Given the description of an element on the screen output the (x, y) to click on. 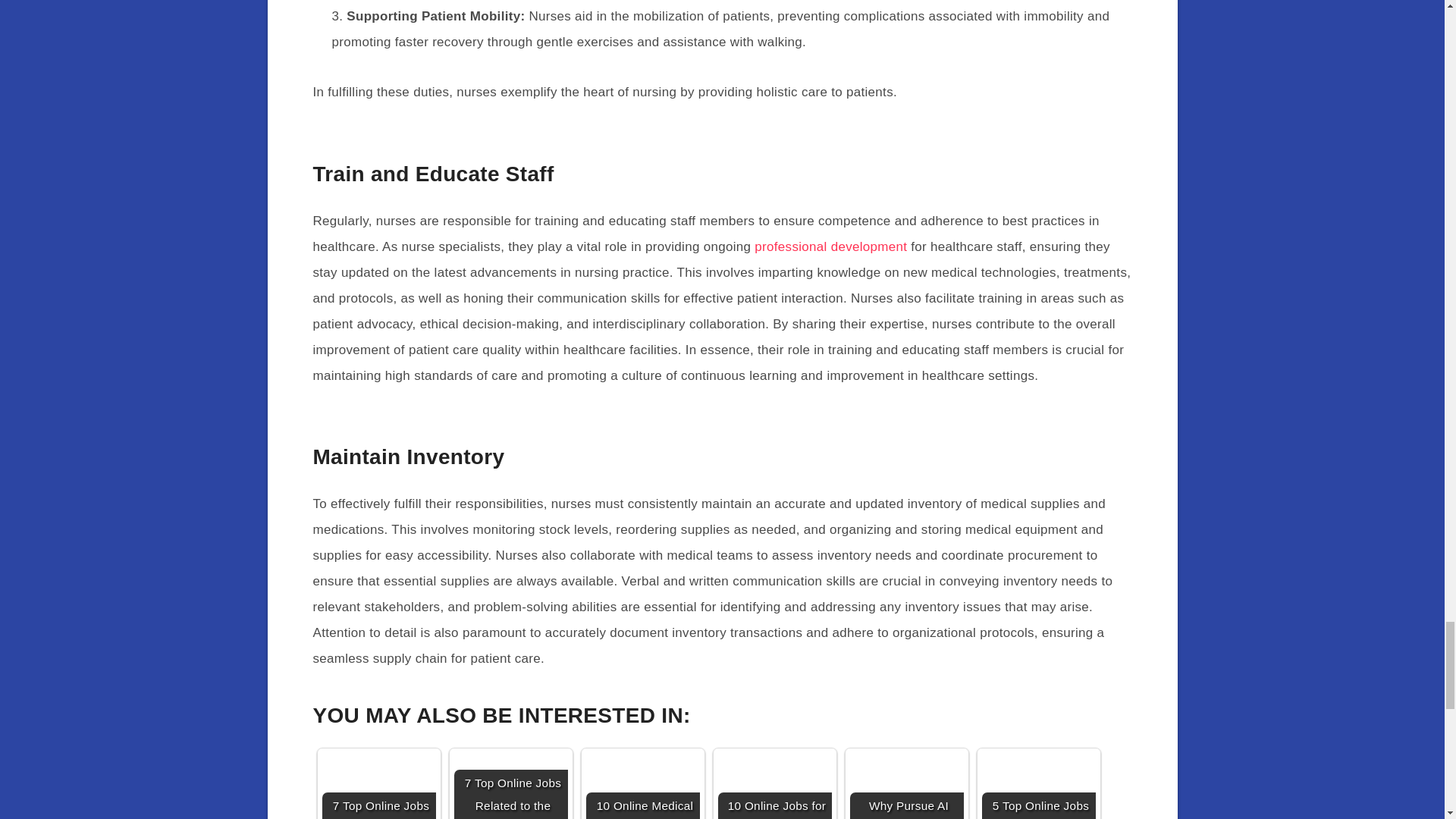
10 Online Medical Jobs You Can Do From Home (641, 785)
7 Top Online Jobs for Nurses Working From Home (378, 785)
10 Online Jobs for Doctors to Work From Home in India (774, 785)
Why Pursue AI Certifications in Healthcare? (905, 785)
7 Top Online Jobs Related to the Medical Field in 2024 (509, 785)
professional development (830, 246)
